Given the description of an element on the screen output the (x, y) to click on. 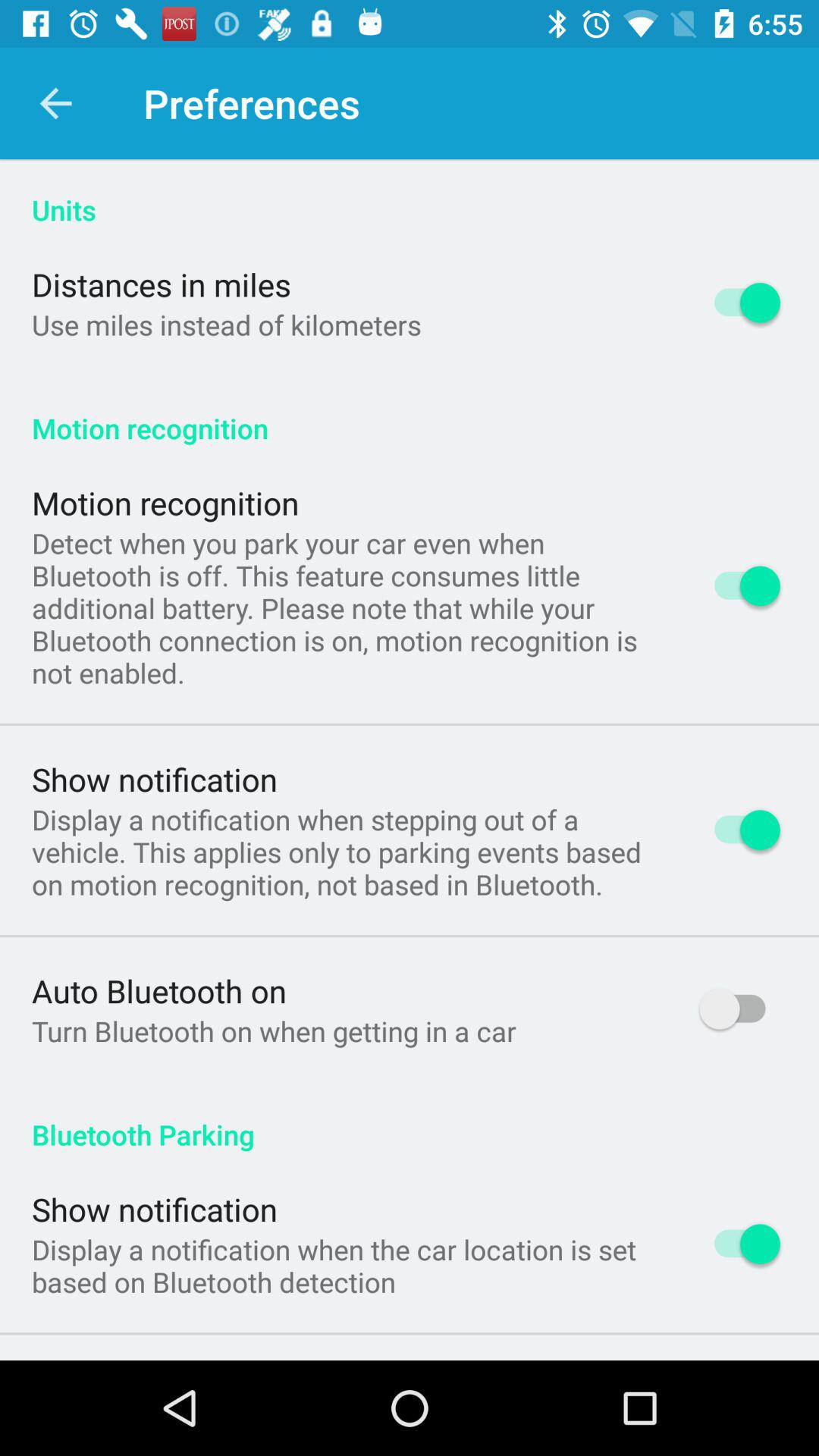
select app below motion recognition icon (345, 607)
